Given the description of an element on the screen output the (x, y) to click on. 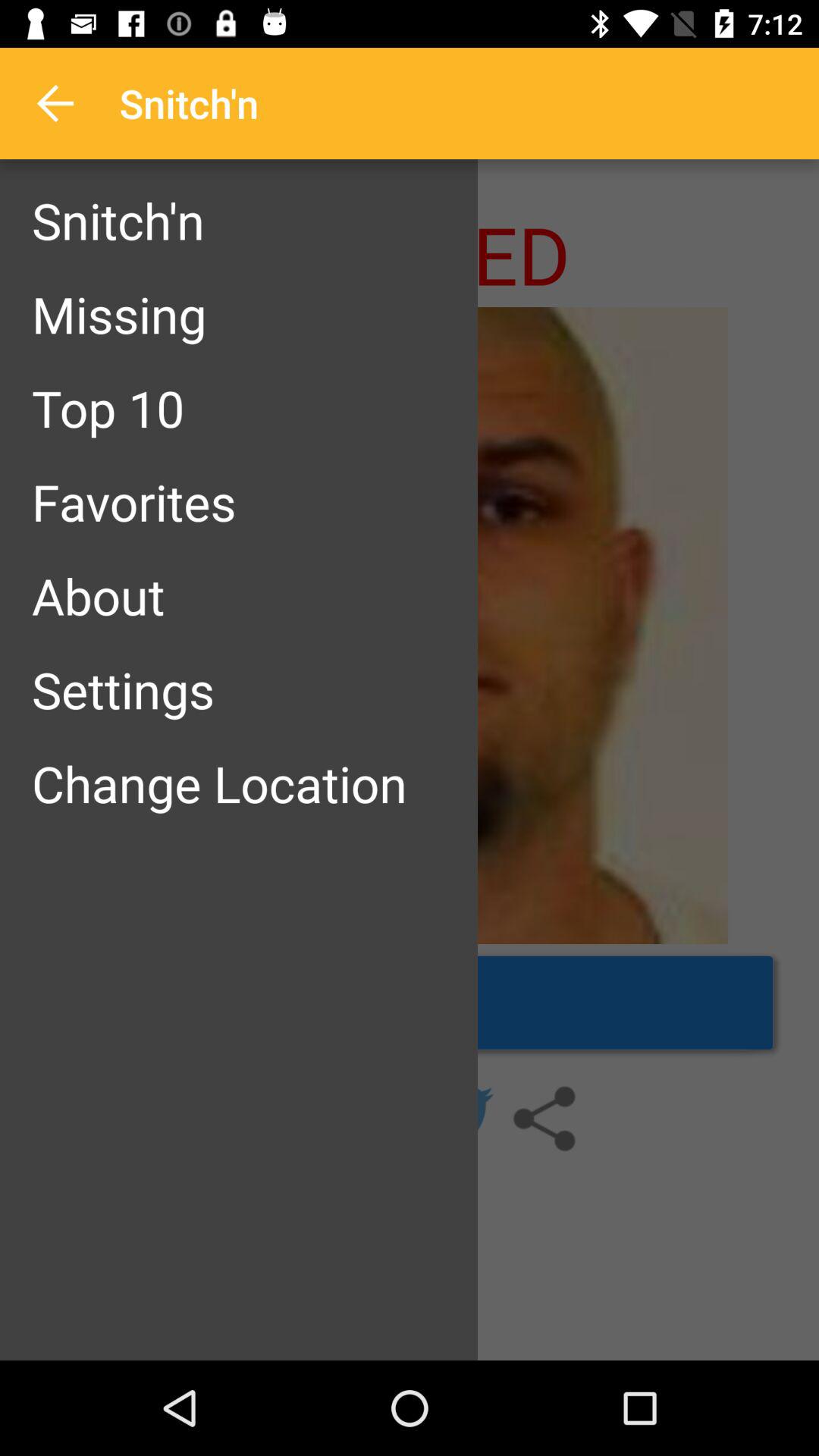
click on share symbol (543, 1118)
